Given the description of an element on the screen output the (x, y) to click on. 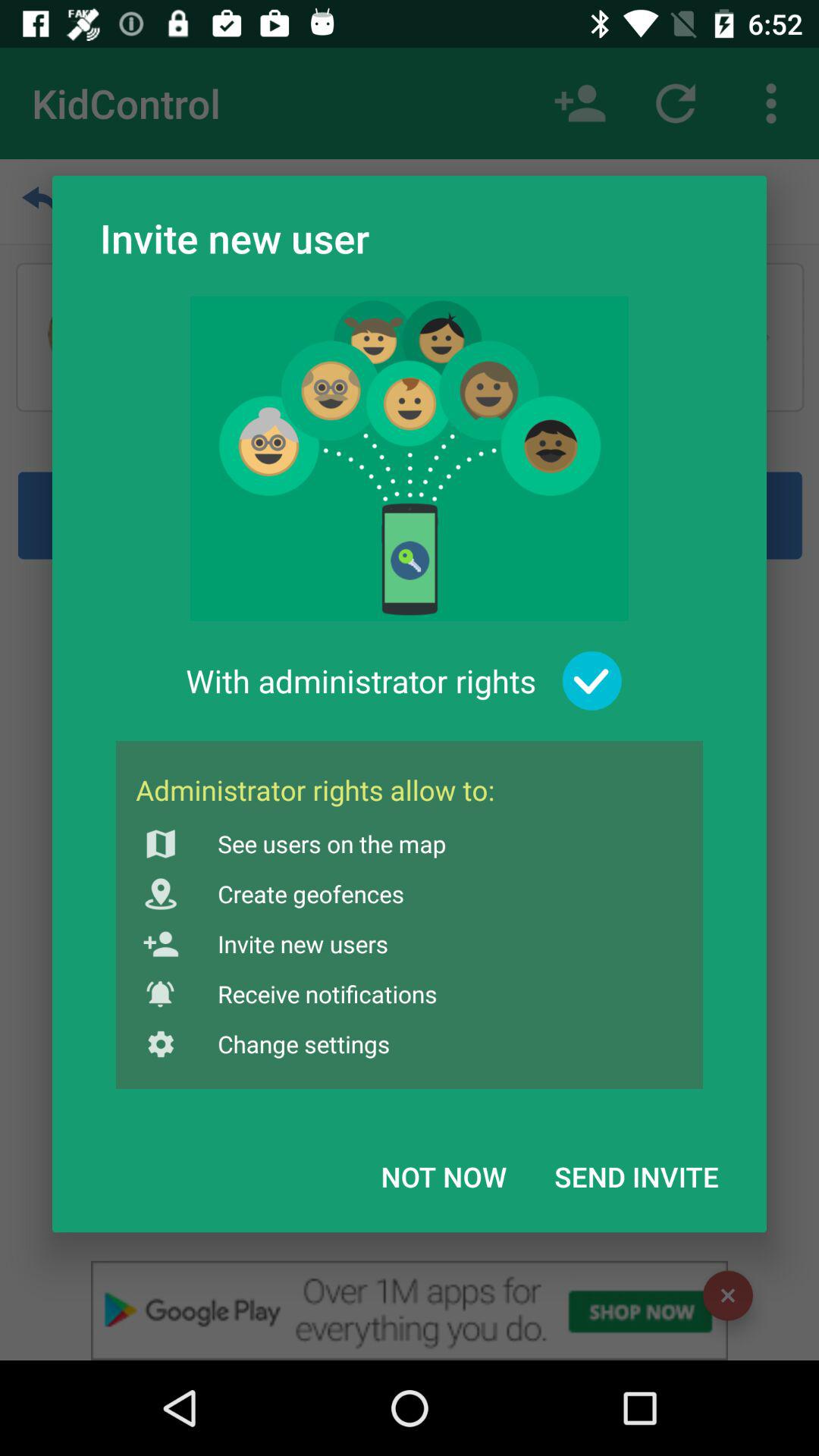
click icon to the left of the send invite item (443, 1176)
